Given the description of an element on the screen output the (x, y) to click on. 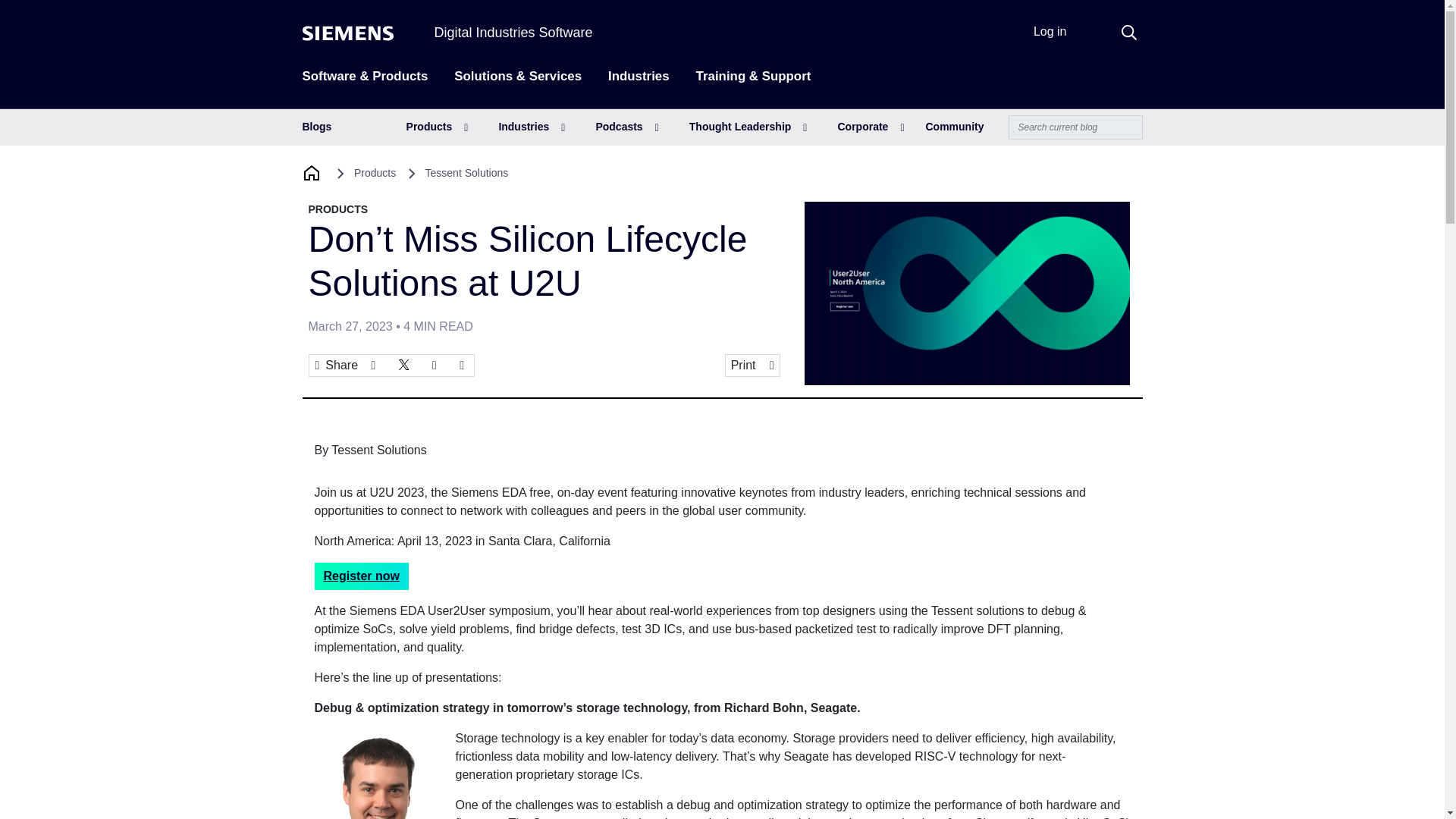
Log in (1050, 31)
Digital Industries Software (512, 32)
Products (437, 127)
Siemens (347, 32)
search (1128, 32)
